Given the description of an element on the screen output the (x, y) to click on. 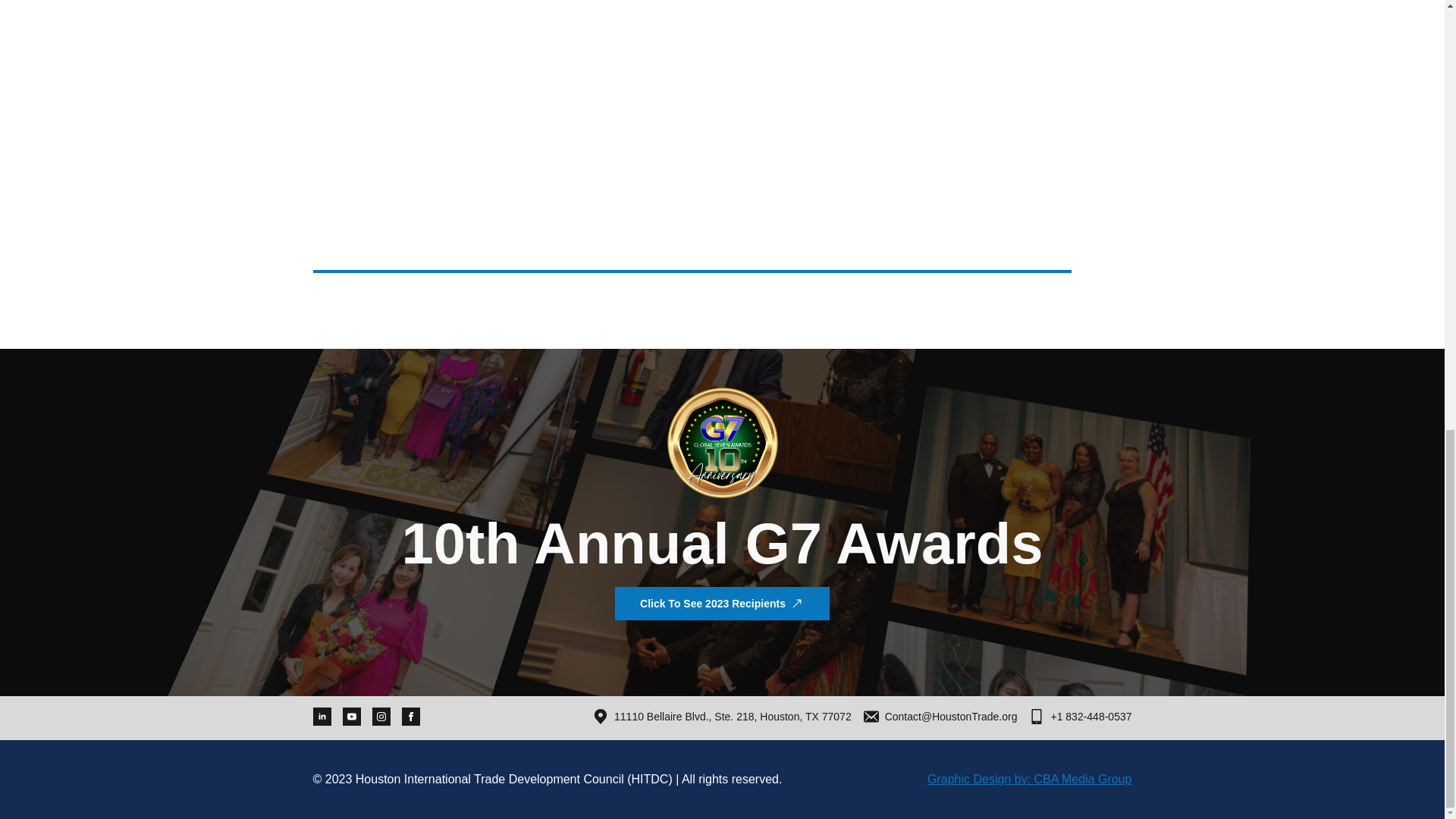
Click To See 2023 Recipients (721, 603)
Graphic Design by: CBA Media Group (1029, 779)
